Given the description of an element on the screen output the (x, y) to click on. 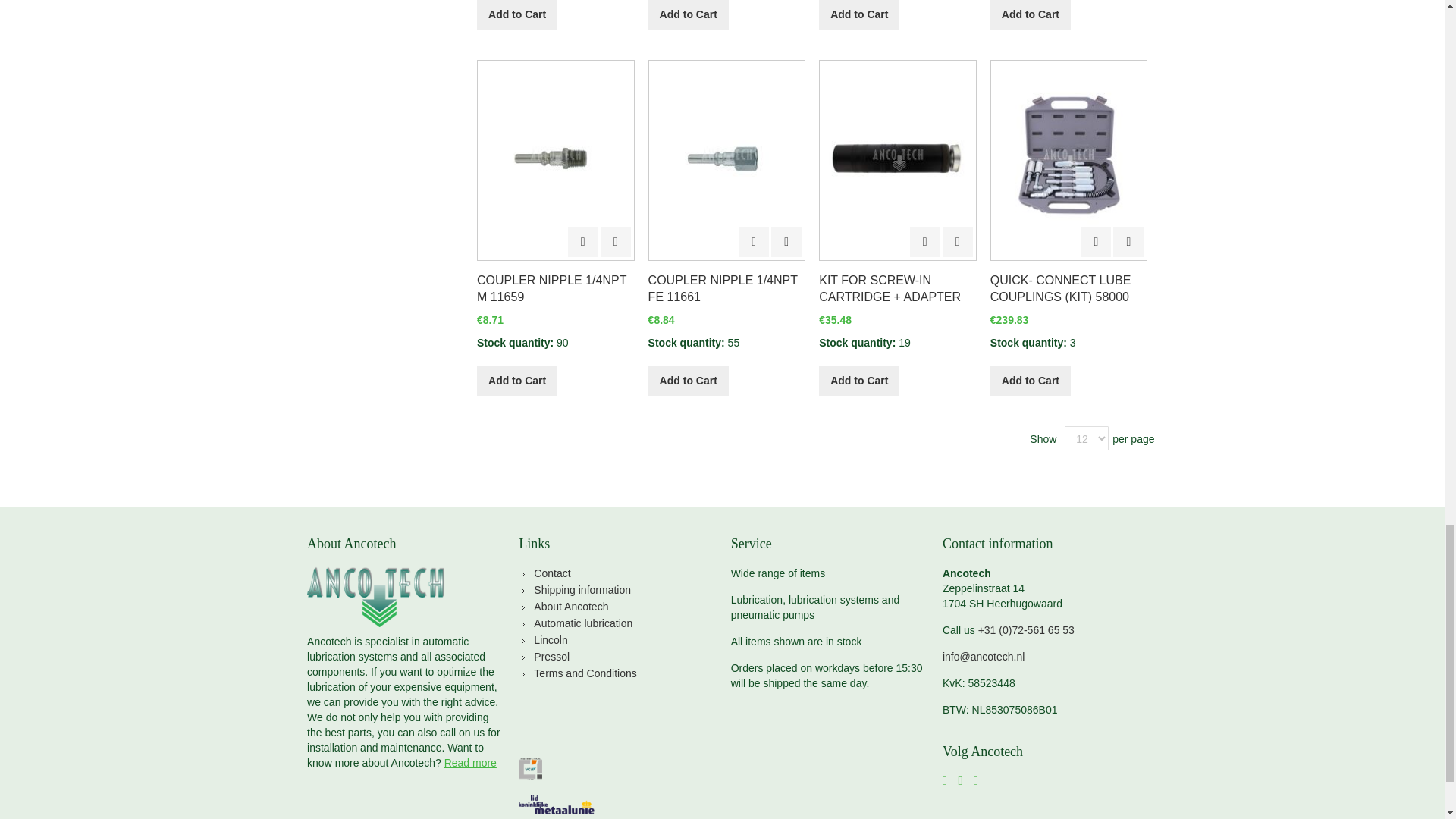
Add to Cart (517, 14)
